Given the description of an element on the screen output the (x, y) to click on. 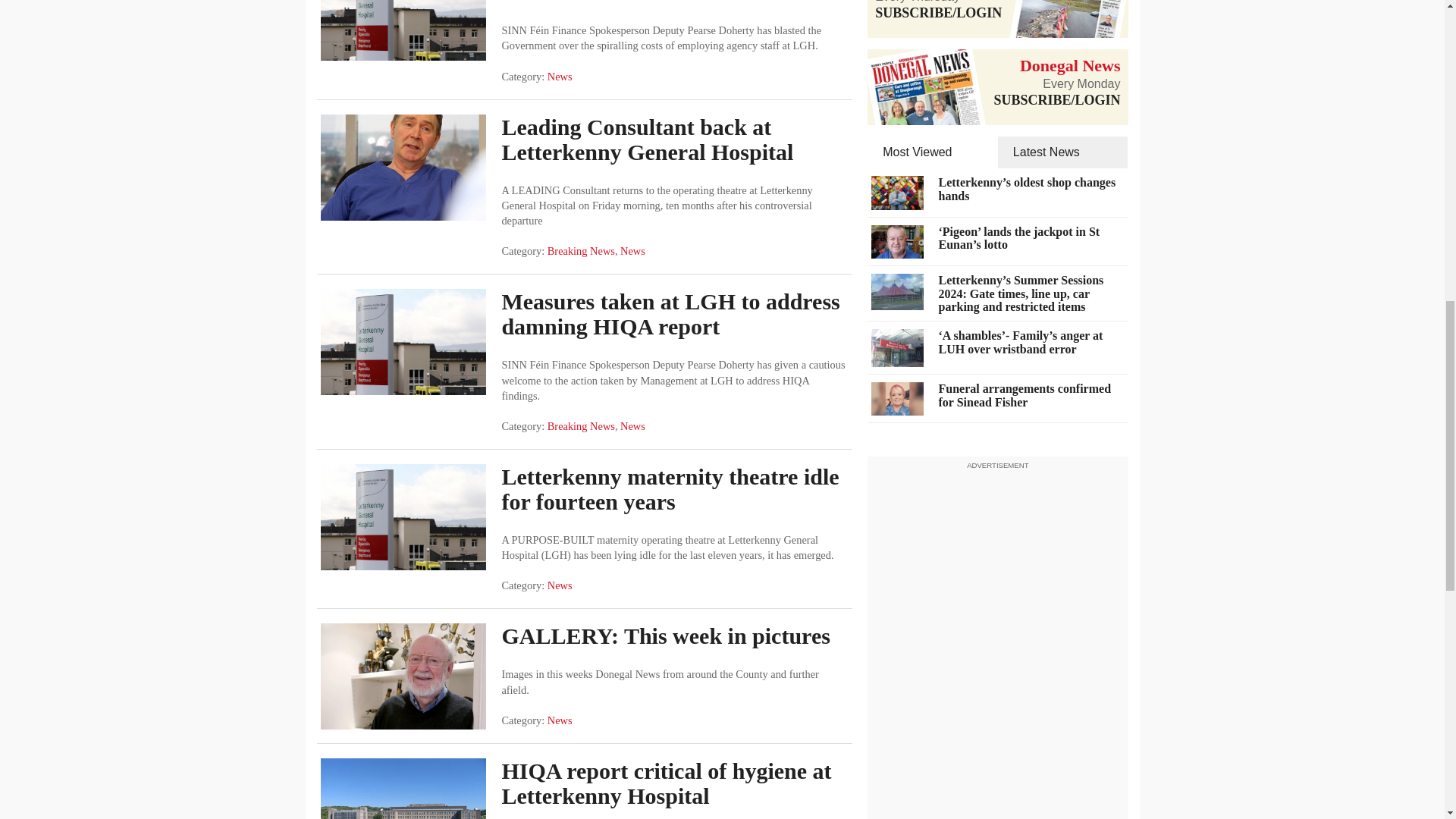
View all posts in News (559, 585)
View all posts in Breaking News (580, 426)
View all posts in News (632, 250)
View all posts in News (632, 426)
View all posts in News (559, 720)
View all posts in Breaking News (580, 250)
View all posts in News (559, 76)
